Given the description of an element on the screen output the (x, y) to click on. 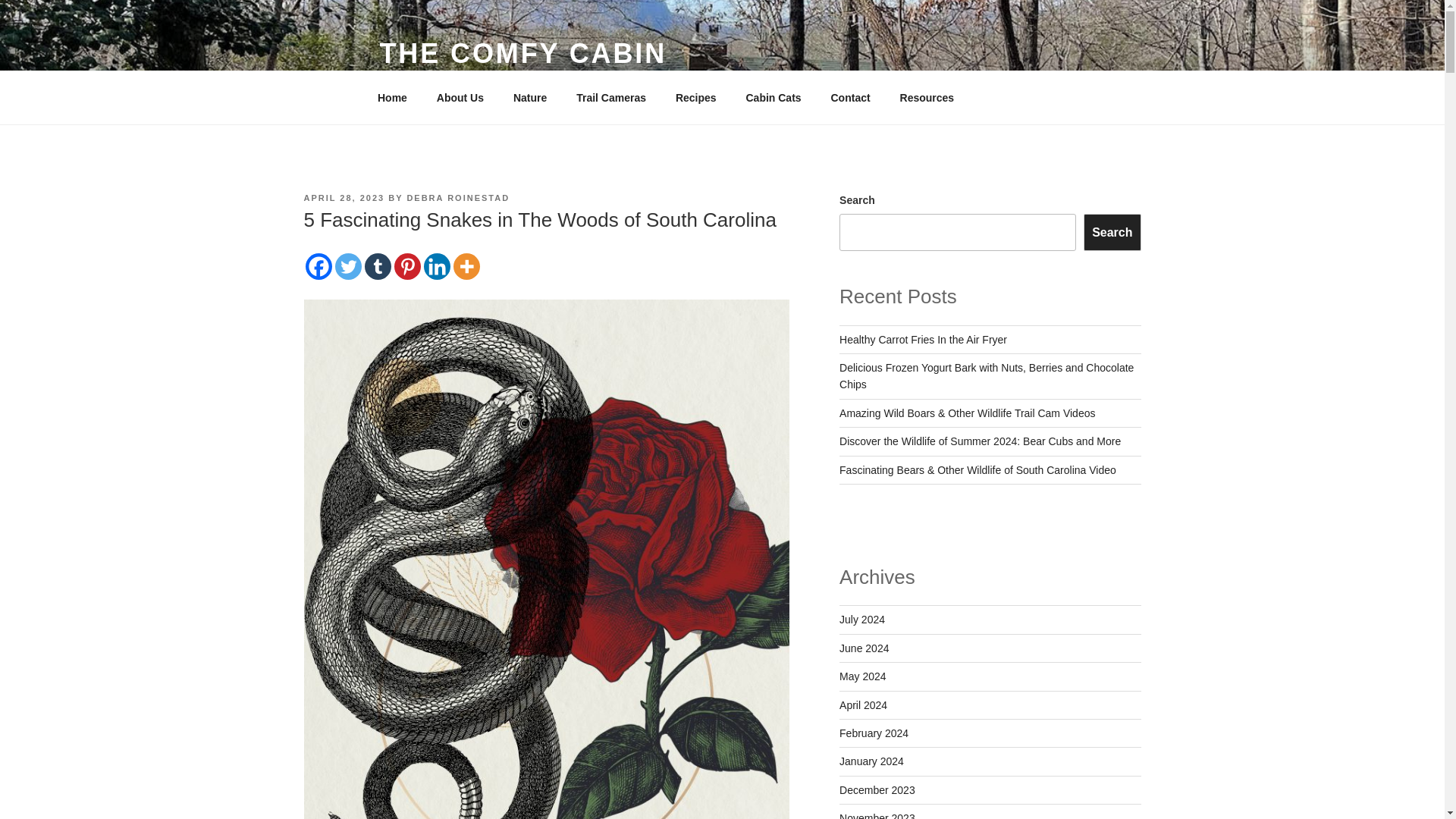
Contact (849, 97)
Nature (529, 97)
Linkedin (436, 266)
THE COMFY CABIN (522, 52)
Home (392, 97)
Tumblr (377, 266)
APRIL 28, 2023 (343, 197)
Search (1111, 231)
Trail Cameras (611, 97)
Healthy Carrot Fries In the Air Fryer (923, 339)
Pinterest (407, 266)
Resources (932, 97)
Facebook (317, 266)
Twitter (347, 266)
